Given the description of an element on the screen output the (x, y) to click on. 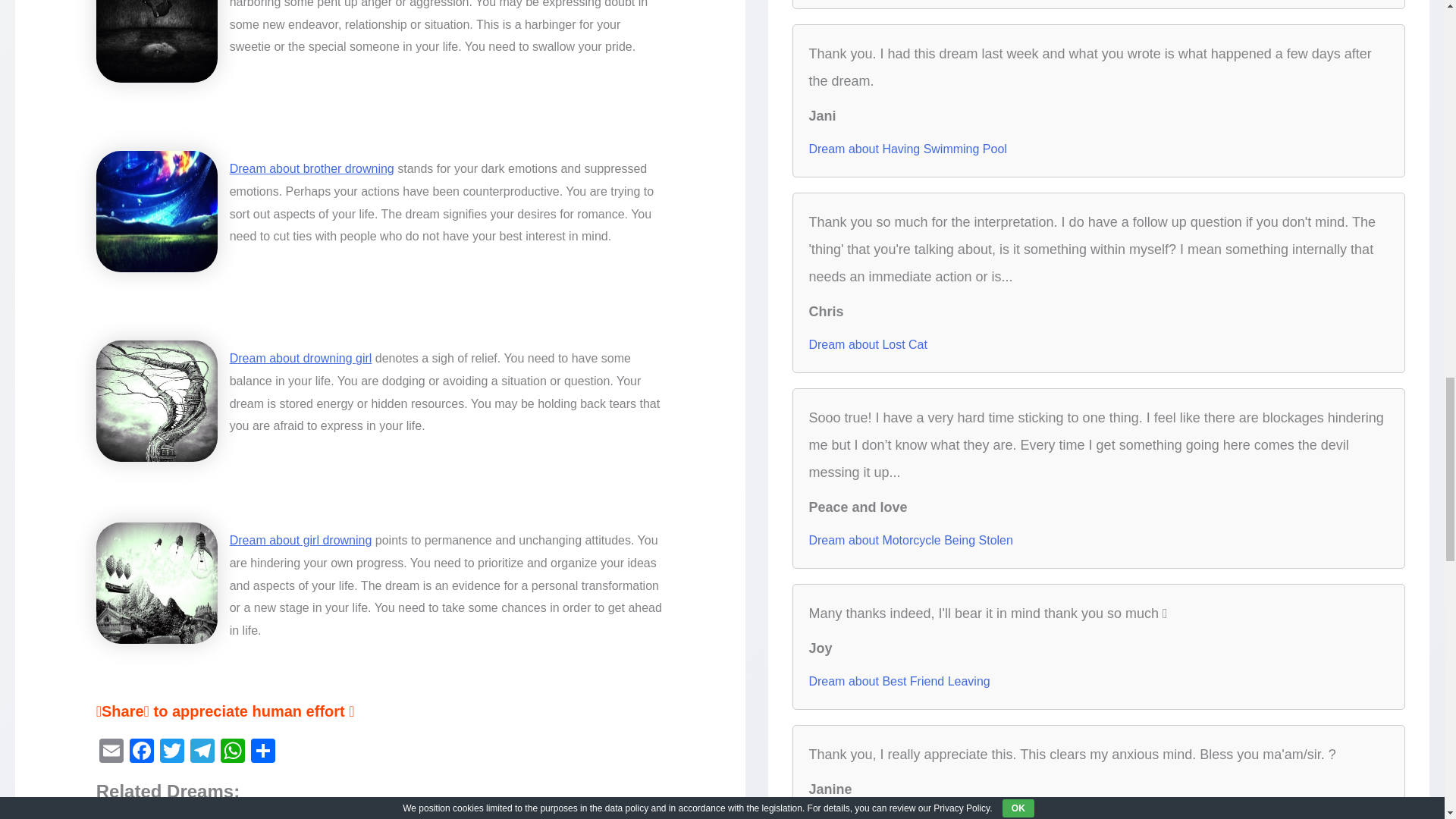
Dream about Best Friend Leaving (899, 681)
Share (262, 752)
Telegram (201, 752)
Twitter (172, 752)
Email (111, 752)
Facebook (141, 752)
Dream about Someone Watching Me Sleep (925, 814)
Email (111, 752)
Dream about Lost Cat (867, 344)
Facebook (141, 752)
Twitter (172, 752)
Dream about Having Swimming Pool (907, 149)
WhatsApp (231, 752)
Dream about brother drowning (312, 168)
Dream about drowning girl (301, 358)
